Given the description of an element on the screen output the (x, y) to click on. 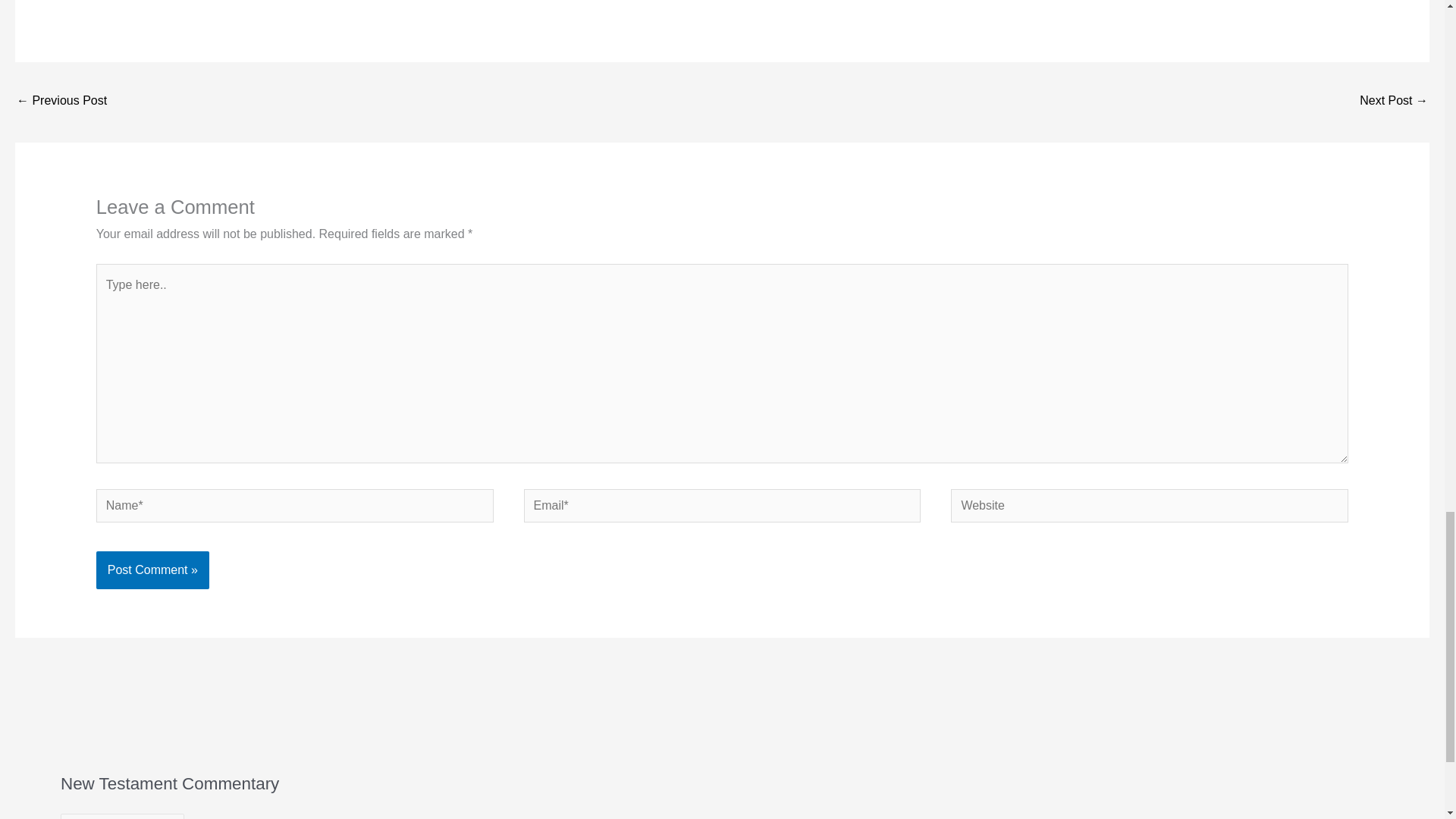
Galatians 6:11-18 (61, 101)
Colossians 1:1-14 (1393, 101)
